Given the description of an element on the screen output the (x, y) to click on. 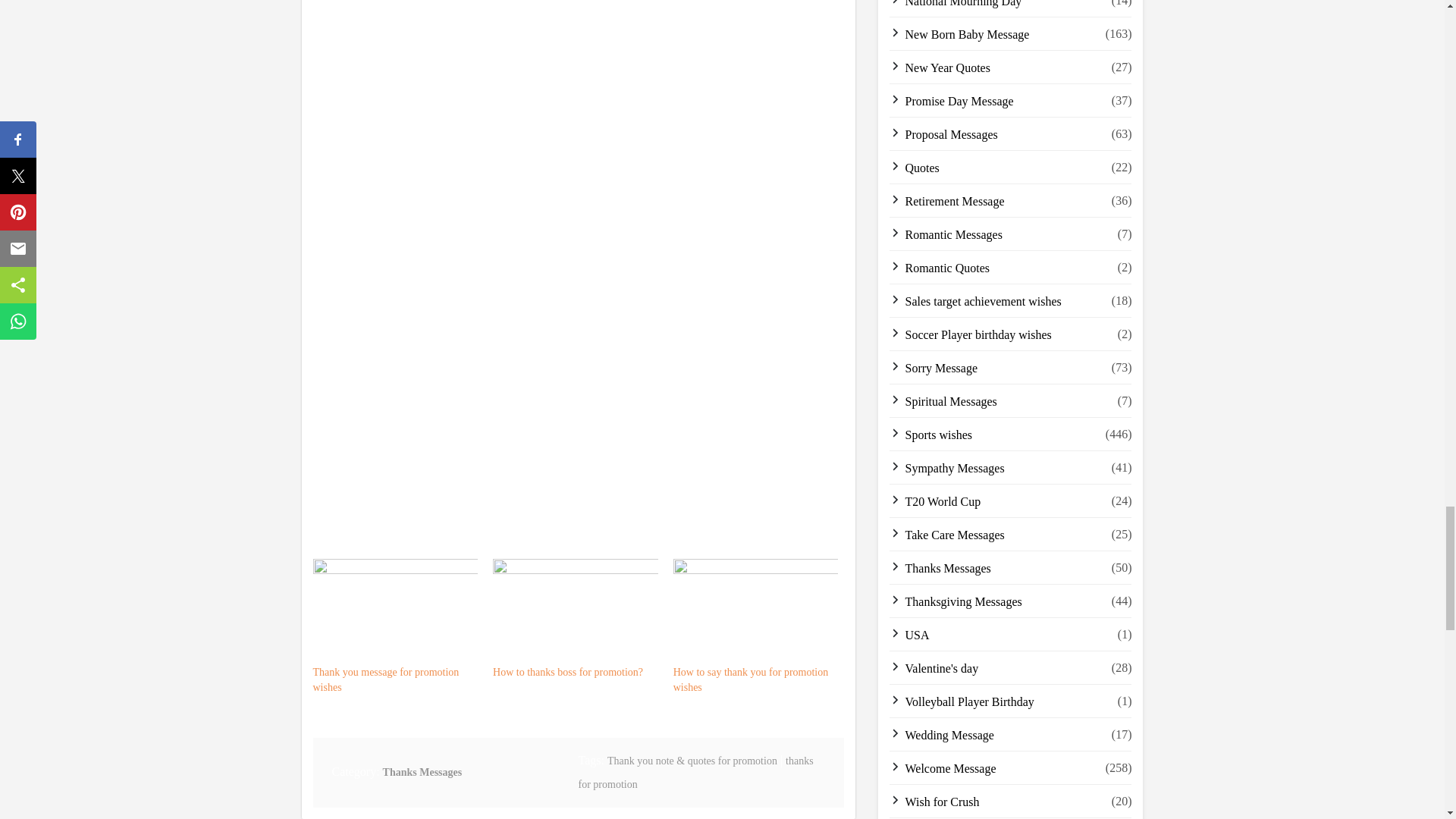
Thanks Messages (422, 772)
How to thanks boss for promotion?  (569, 672)
Thank you message for promotion wishes (395, 680)
thanks for promotion (695, 772)
How to say thank you for promotion wishes (755, 680)
